Given the description of an element on the screen output the (x, y) to click on. 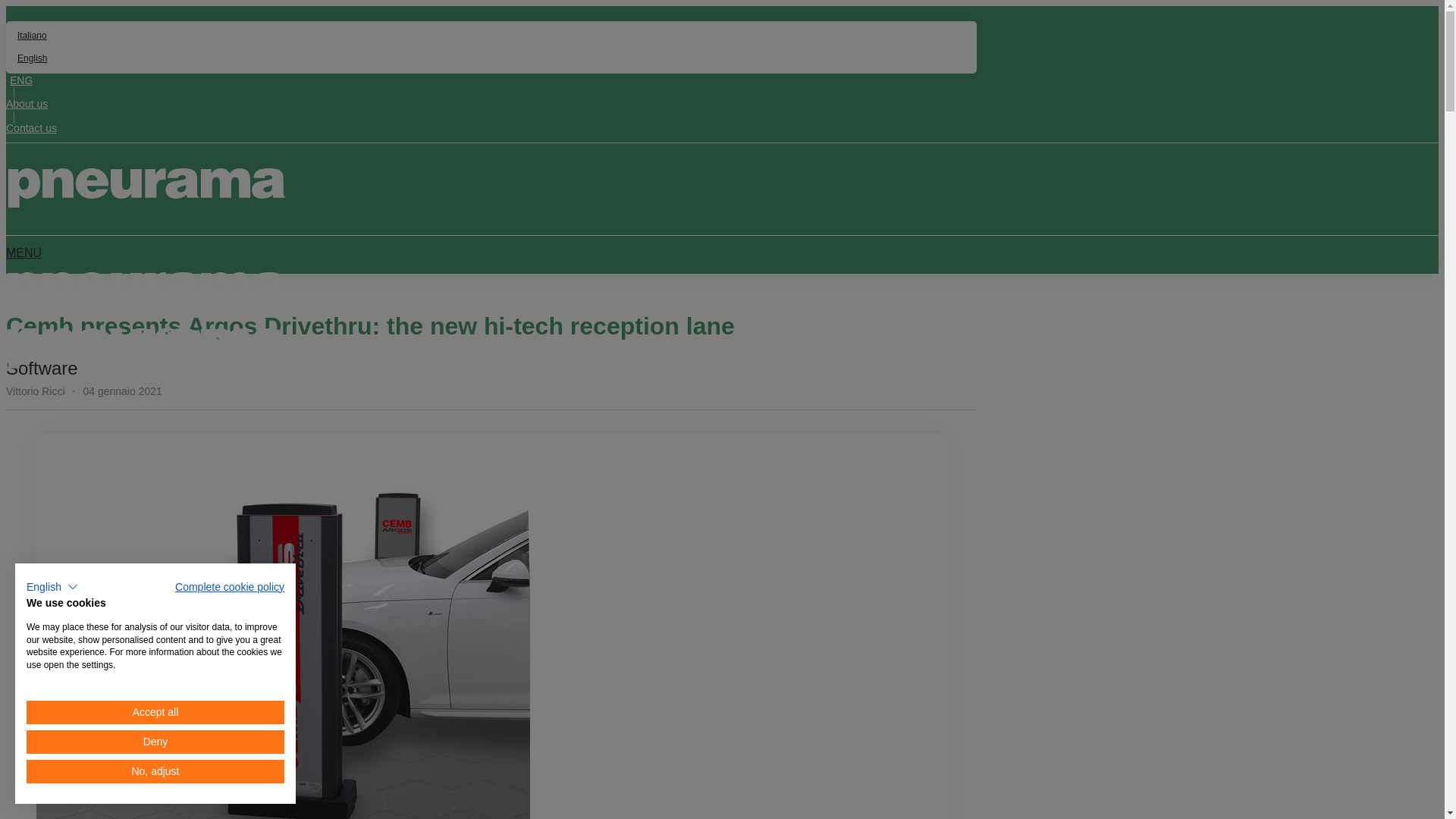
Pneurama (145, 347)
Pneurama (145, 291)
Italiano (491, 36)
MENU (23, 252)
English (491, 58)
Pneurama (145, 187)
Contact us (30, 128)
MARKET (130, 401)
ENG (18, 80)
PRODUCTS (49, 401)
About us (26, 103)
